Given the description of an element on the screen output the (x, y) to click on. 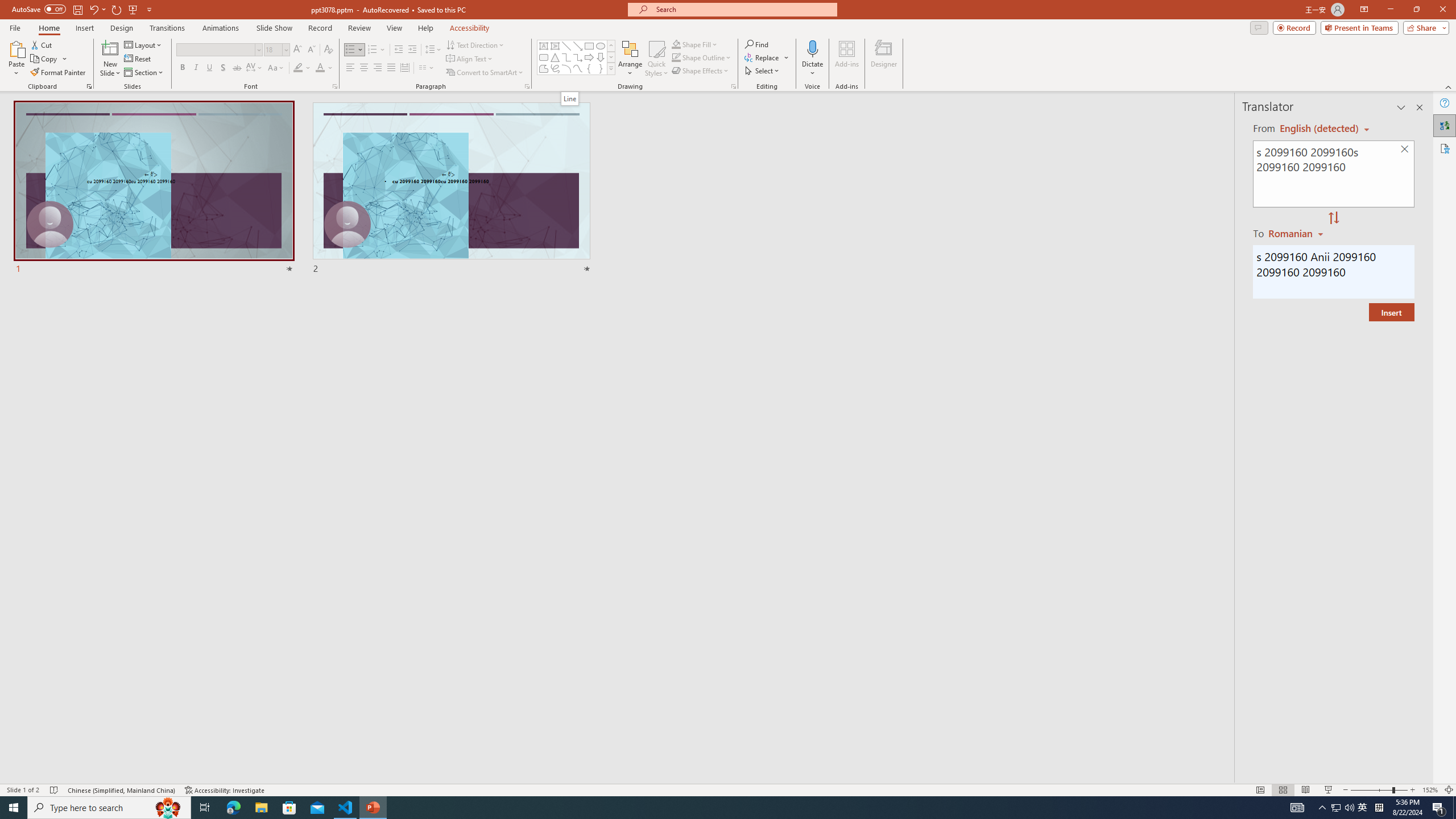
Arrow: Right (589, 57)
Left Brace (589, 68)
Find... (756, 44)
Bold (182, 67)
Romanian (1296, 232)
Arrange (630, 58)
Convert to SmartArt (485, 72)
